Given the description of an element on the screen output the (x, y) to click on. 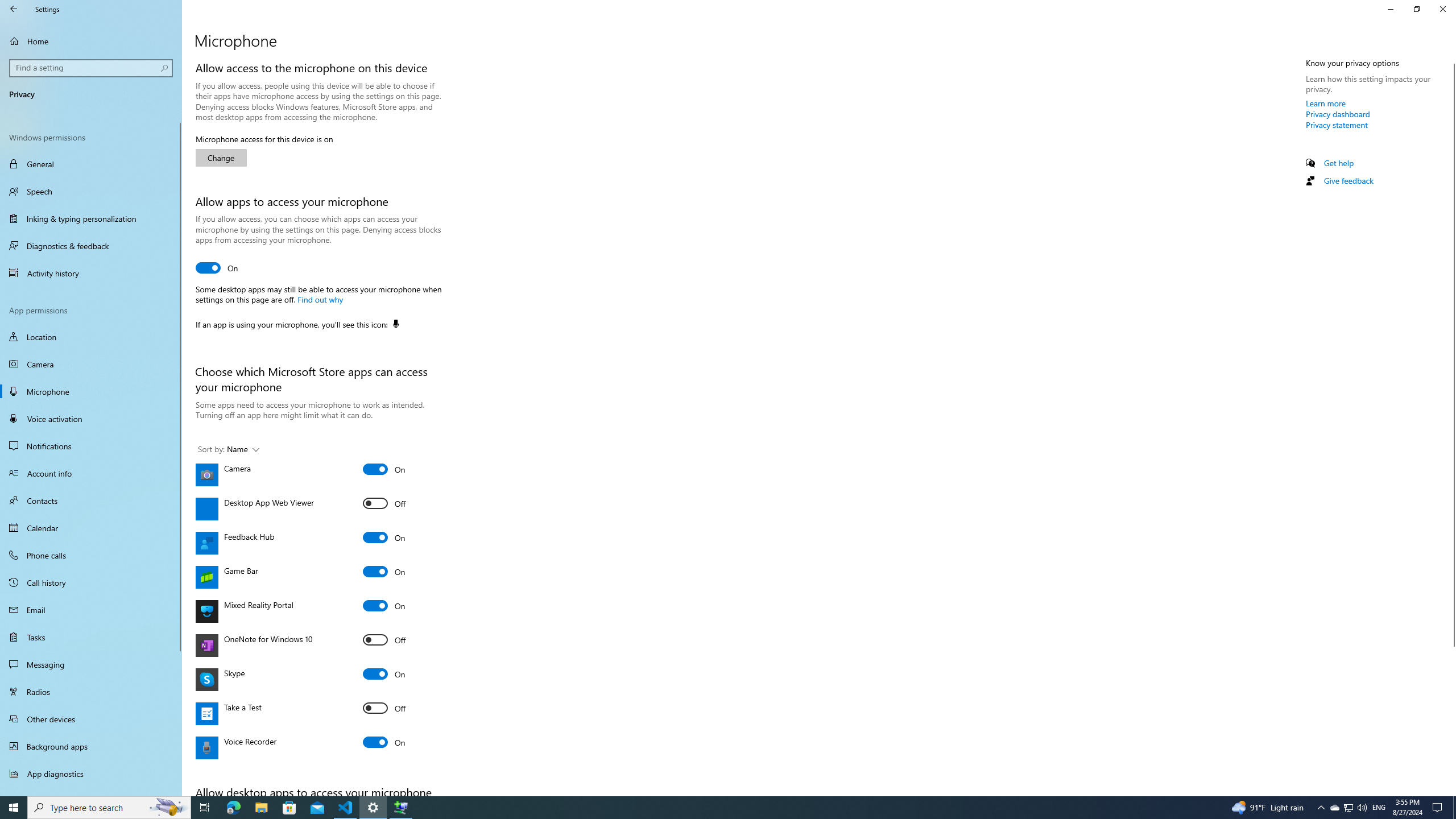
Account info (91, 472)
Background apps (91, 746)
Vertical Small Increase (1451, 791)
Speech (91, 190)
Search box, Find a setting (91, 67)
Get help (1338, 162)
Vertical Large Increase (1451, 717)
Game Bar (384, 571)
Privacy dashboard (1338, 113)
